Given the description of an element on the screen output the (x, y) to click on. 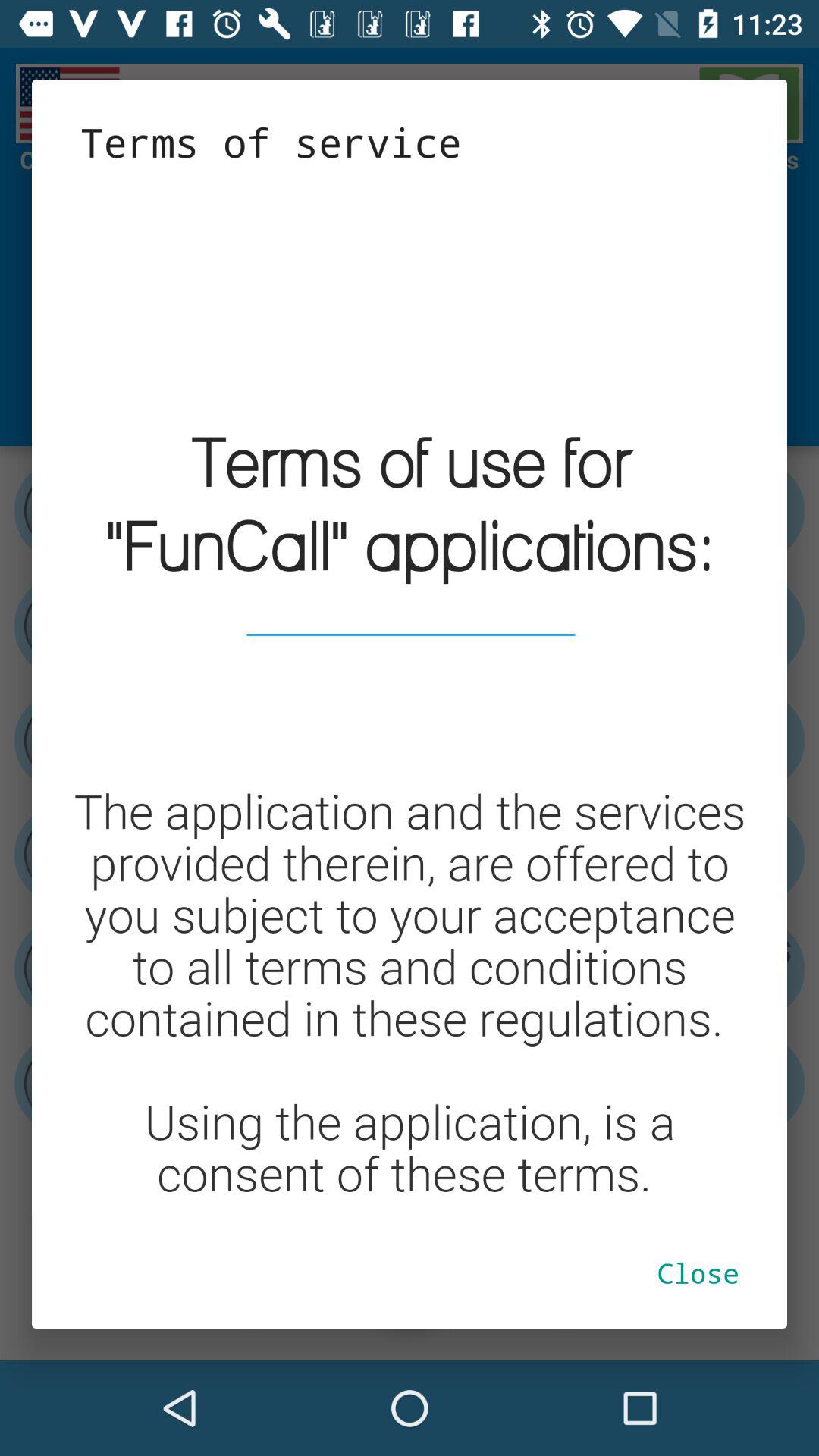
press icon at the center (409, 692)
